Given the description of an element on the screen output the (x, y) to click on. 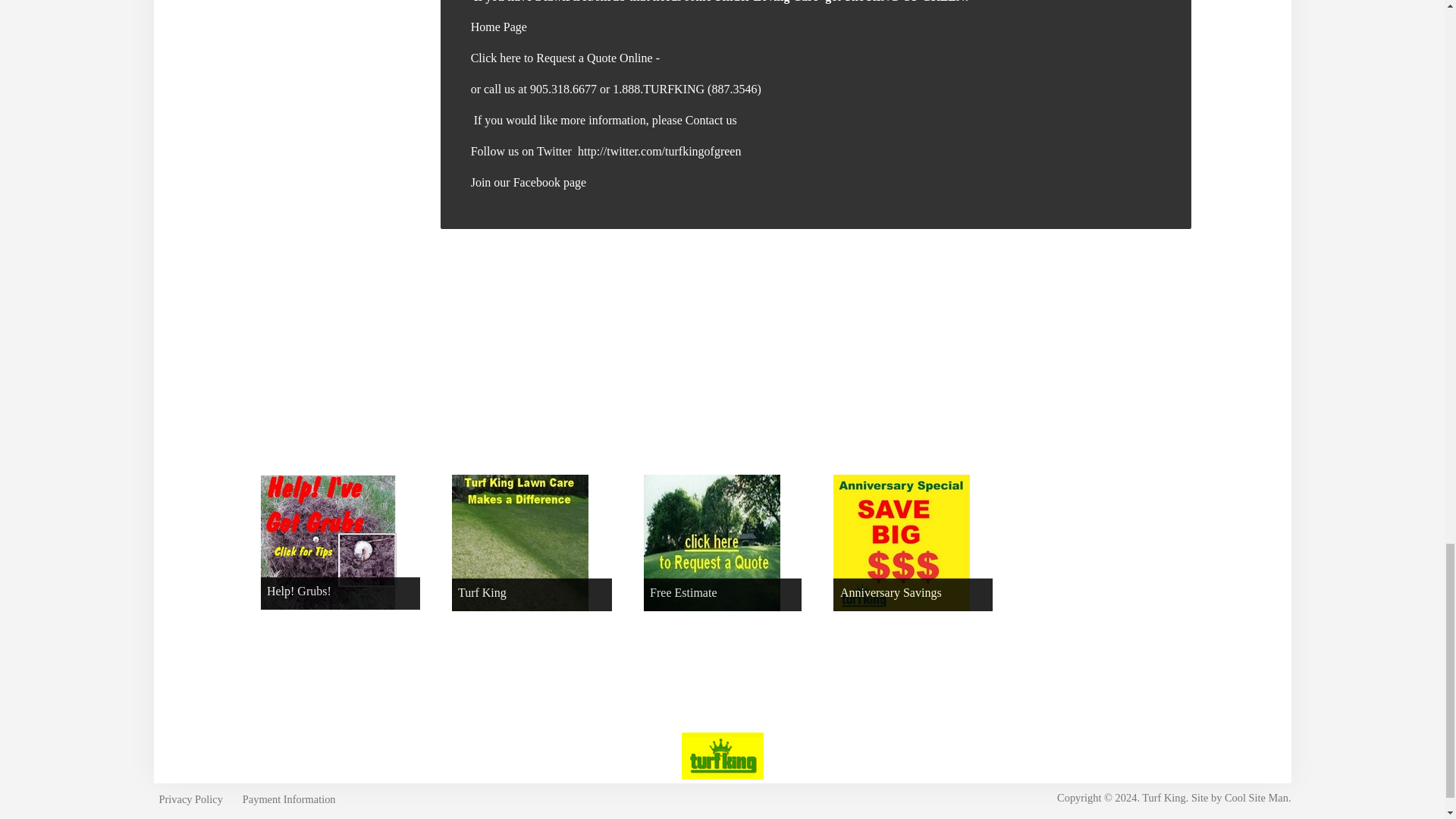
Submit to Google Bookmarks (603, 334)
Go to the Home Page (498, 26)
Submit to Delicious (448, 334)
Contact us (710, 119)
Cool Site Man Website (1256, 797)
Submit to LinkedIn (705, 334)
Click here to Request a Quote Online  (563, 57)
Home Page (498, 26)
Submit to Digg (499, 334)
Submit to Facebook (551, 334)
Submit to Twitter (654, 334)
